Given the description of an element on the screen output the (x, y) to click on. 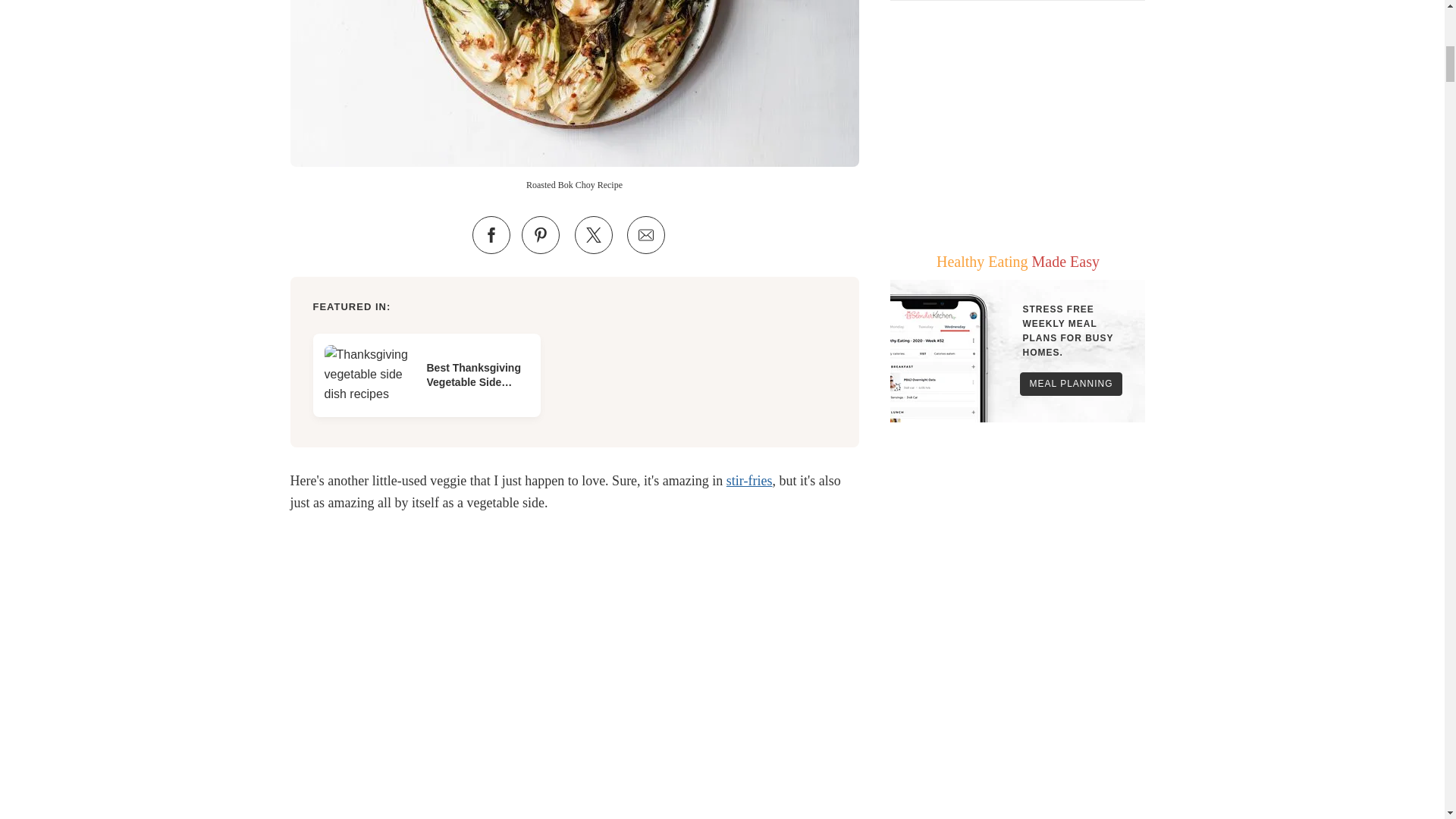
Roasted Bok Choy (574, 83)
